Given the description of an element on the screen output the (x, y) to click on. 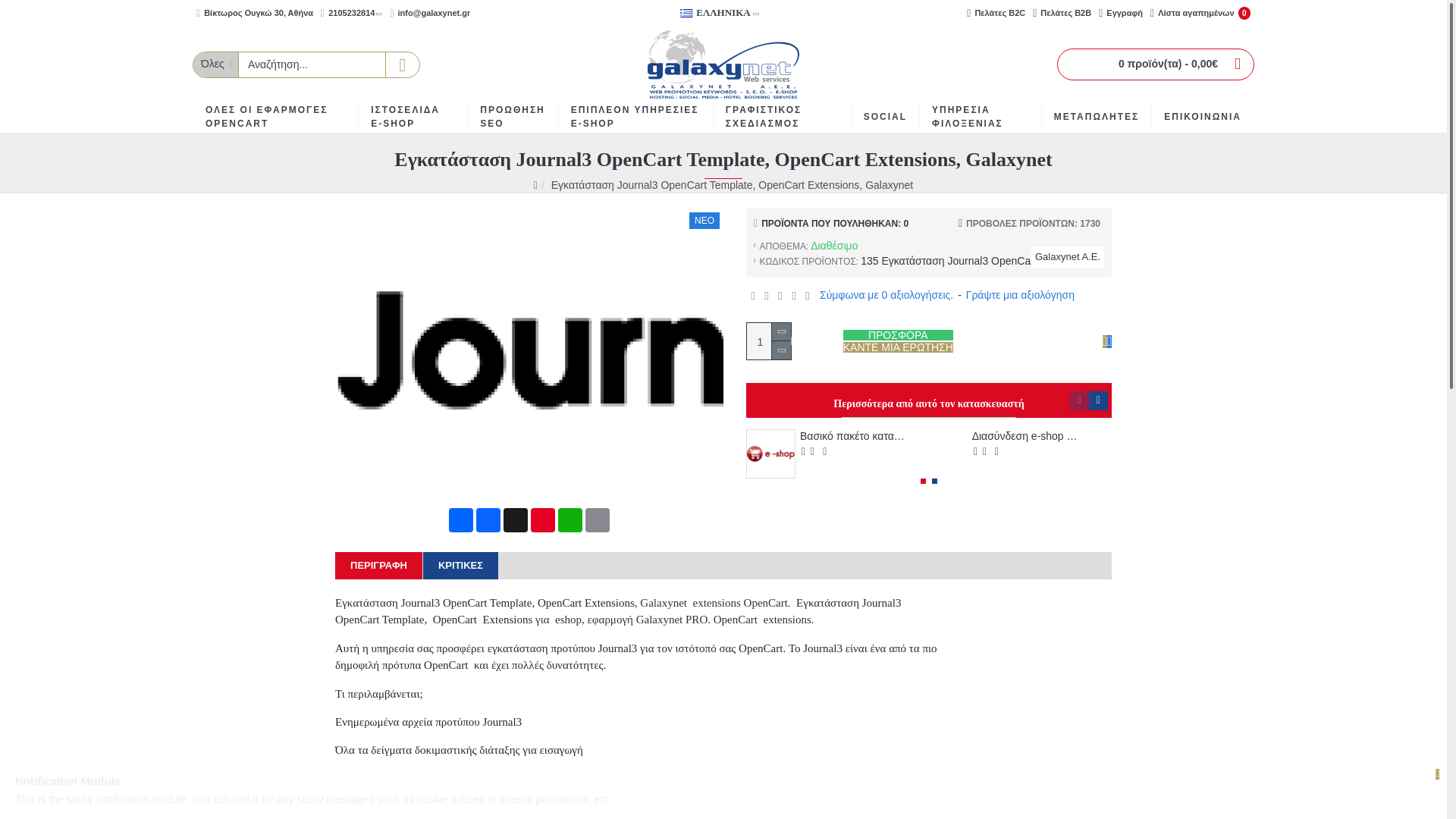
2105232814 (351, 13)
1 (768, 340)
